Given the description of an element on the screen output the (x, y) to click on. 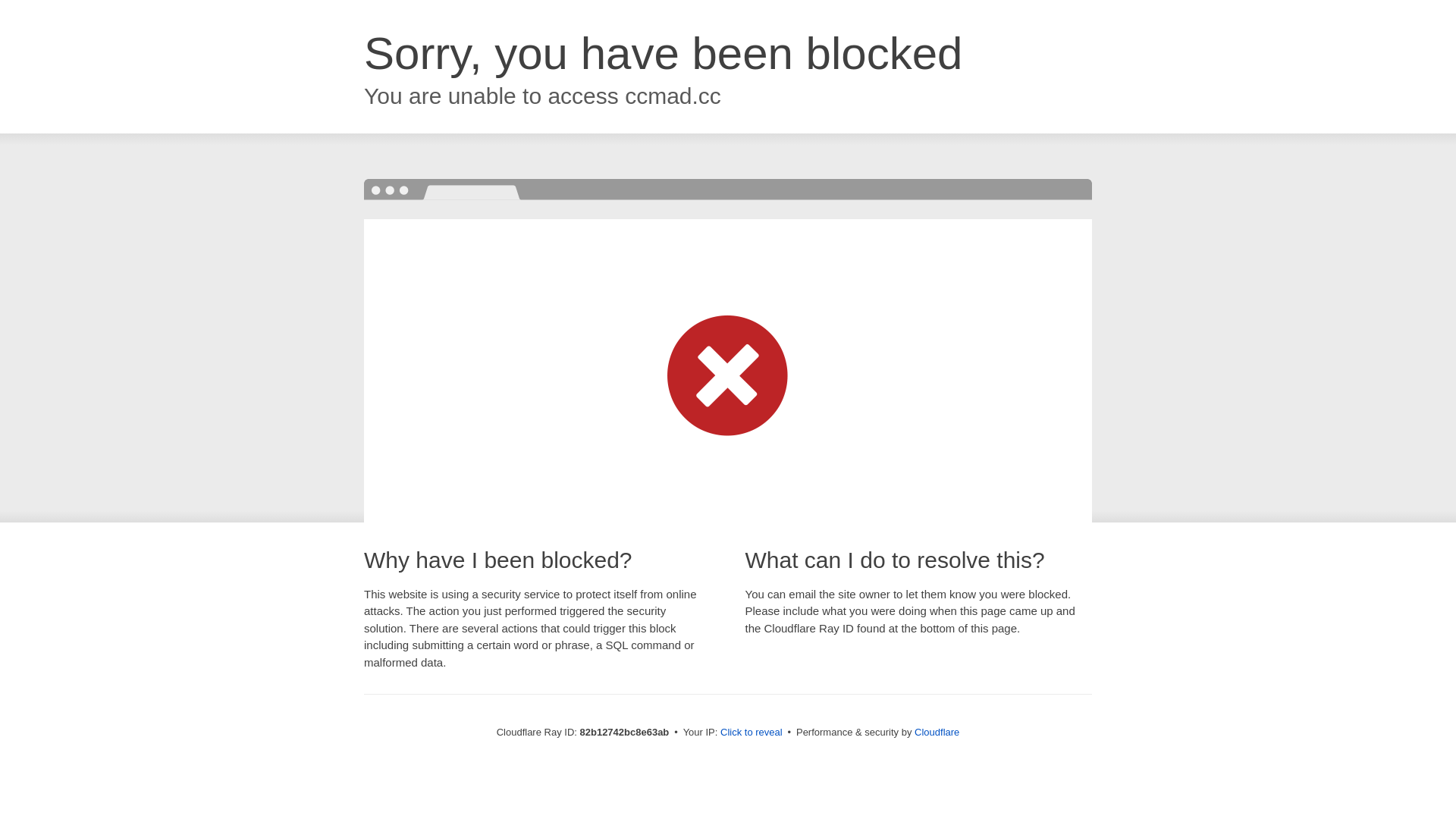
Click to reveal Element type: text (751, 732)
Cloudflare Element type: text (936, 731)
